Given the description of an element on the screen output the (x, y) to click on. 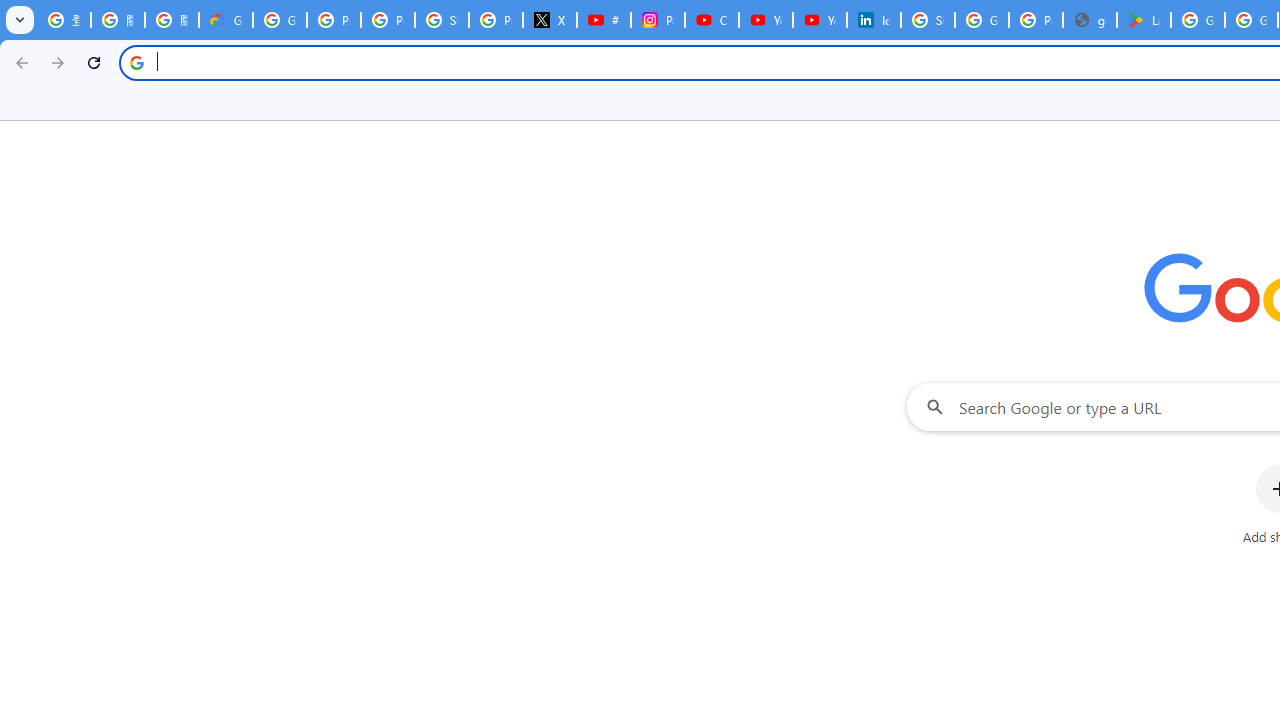
YouTube Culture & Trends - YouTube Top 10, 2021 (819, 20)
Last Shelter: Survival - Apps on Google Play (1144, 20)
Privacy Help Center - Policies Help (387, 20)
